Given the description of an element on the screen output the (x, y) to click on. 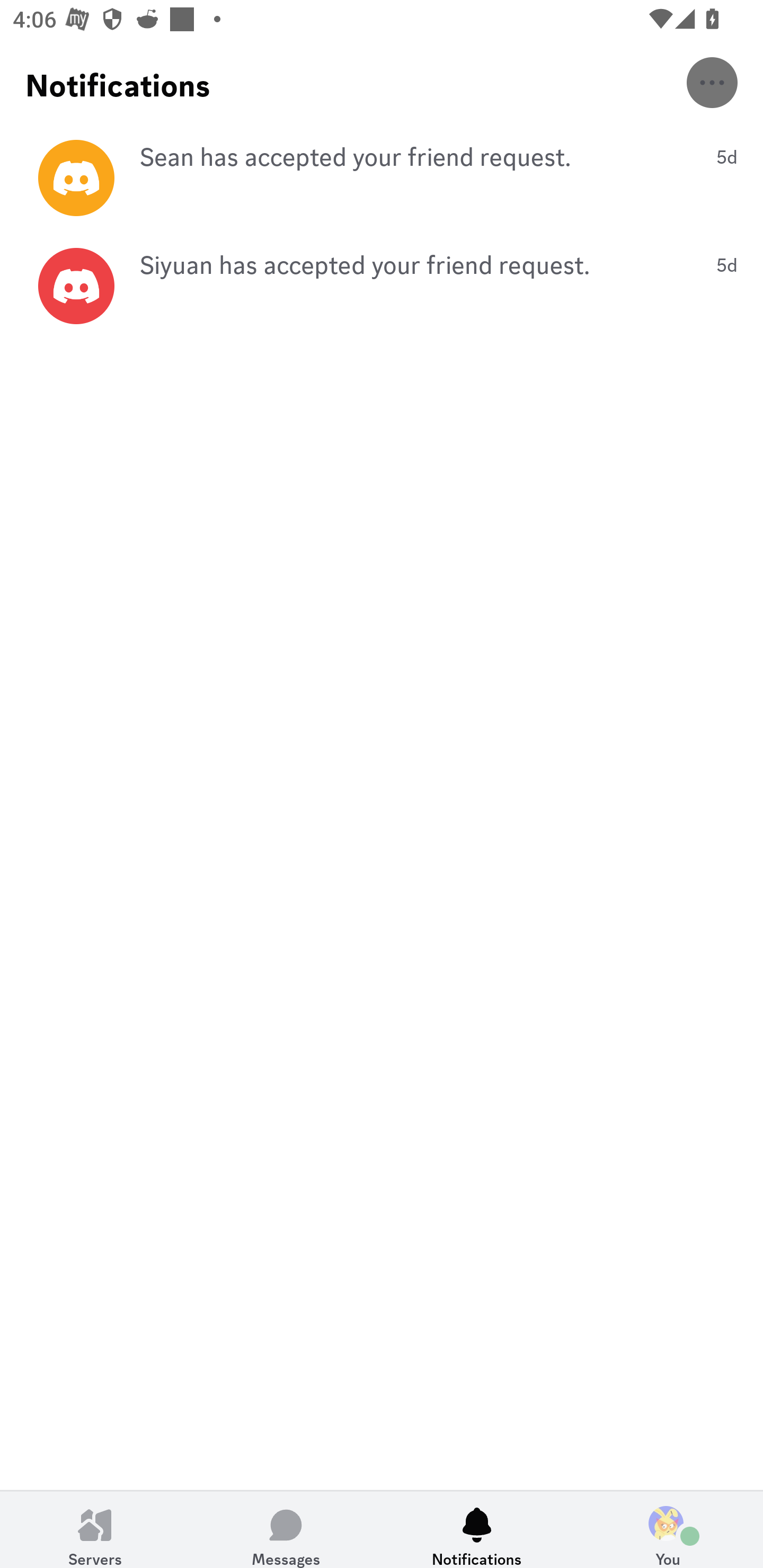
More (711, 82)
Servers (95, 1529)
Messages (285, 1529)
Notifications (476, 1529)
You (667, 1529)
